Given the description of an element on the screen output the (x, y) to click on. 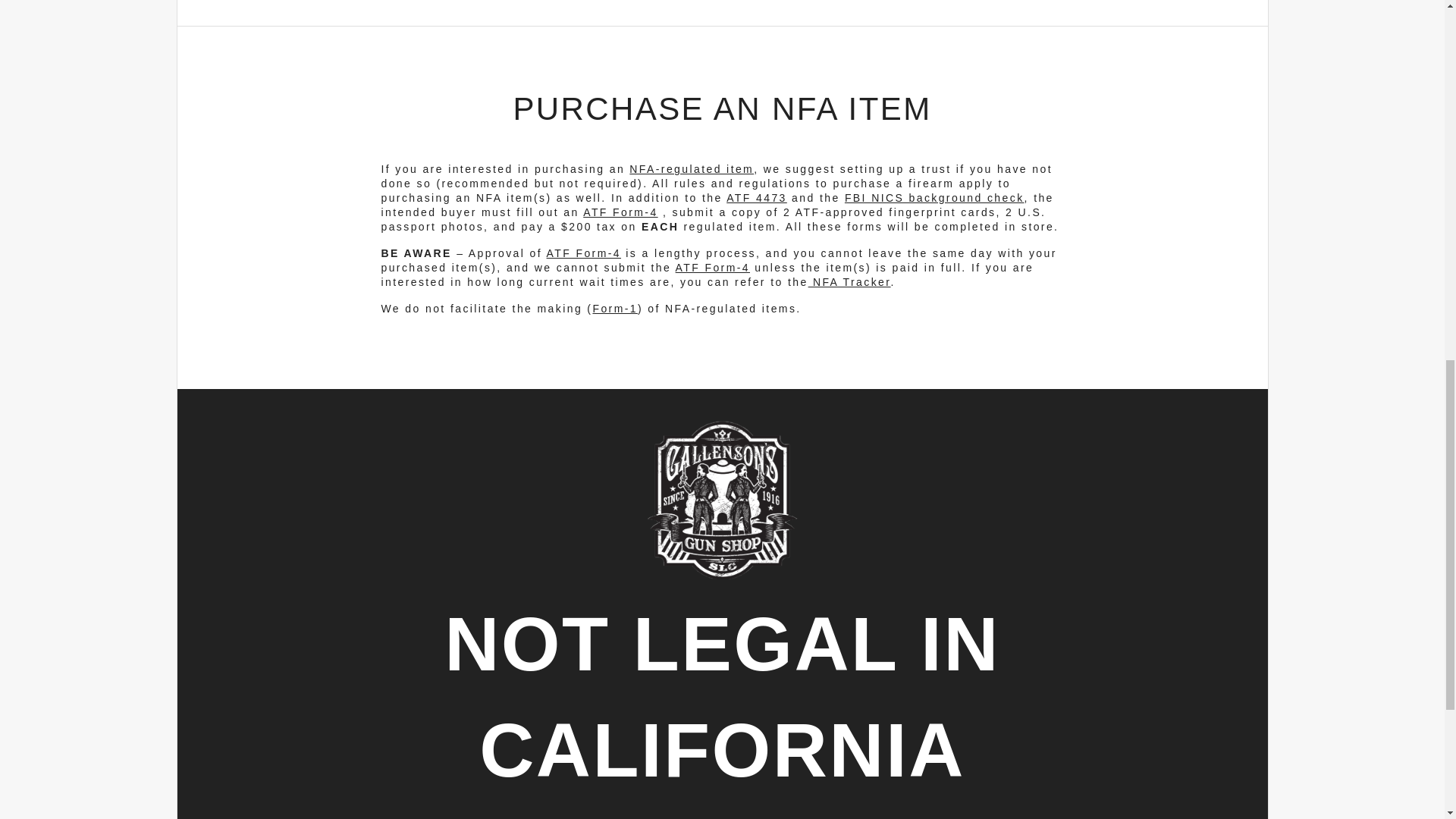
ATF 4473 (756, 197)
ATF Form-4 (712, 267)
ATF Form-4 (620, 212)
NFA Tracker (849, 282)
FBI NICS background check (934, 197)
Form-1 (614, 308)
NFA-regulated item (691, 168)
ATF Form-4 (584, 253)
